Given the description of an element on the screen output the (x, y) to click on. 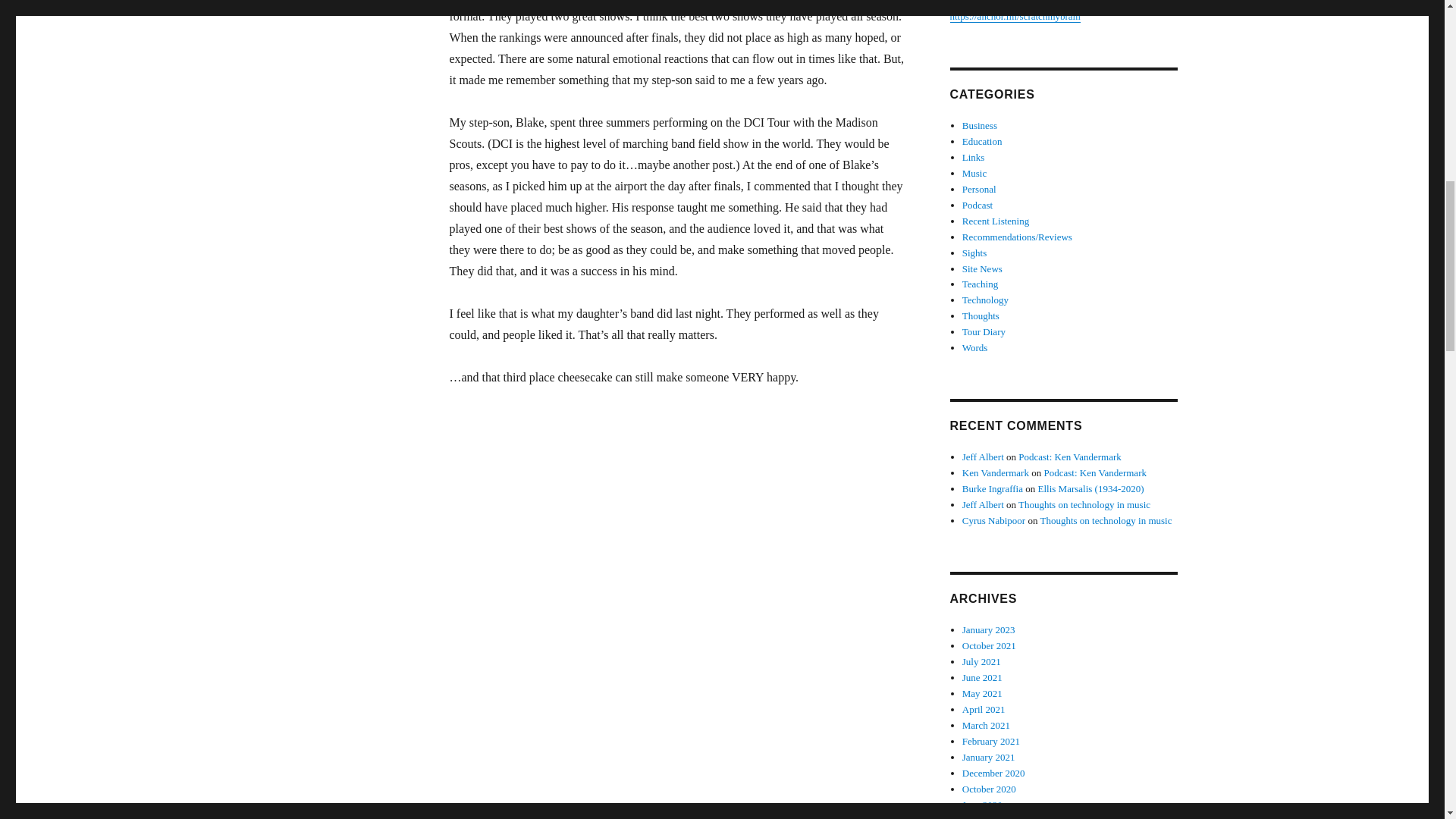
Music (974, 173)
Podcast: Ken Vandermark (1069, 456)
Teaching (979, 283)
Podcast (977, 204)
Sights (974, 252)
Education (982, 141)
Links (973, 156)
Thoughts (980, 315)
Technology (985, 299)
Recent Listening (995, 220)
Jeff Albert (983, 504)
Jeff Albert (983, 456)
Podcast: Ken Vandermark (1095, 472)
Personal (978, 188)
Cyrus Nabipoor (993, 520)
